Given the description of an element on the screen output the (x, y) to click on. 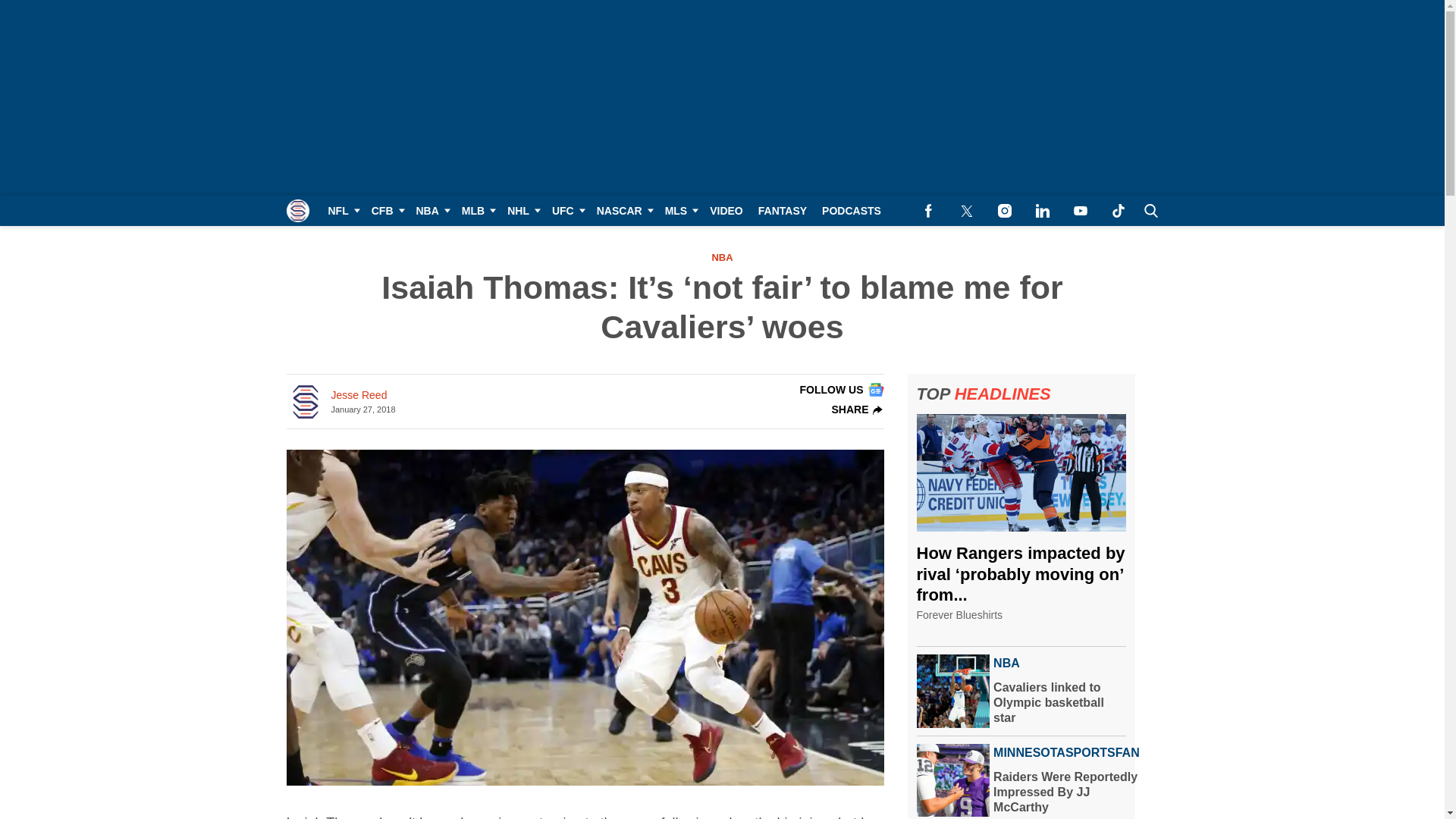
UFC (566, 210)
Follow us on Instagram (1004, 210)
MLB (476, 210)
NBA (429, 210)
CFB (386, 210)
NFL (341, 210)
Follow us on Twitter (966, 210)
Subscribe to our TikTok channel (1118, 210)
Subscribe to our YouTube channel (1080, 210)
Posts by Jesse Reed (358, 395)
